Given the description of an element on the screen output the (x, y) to click on. 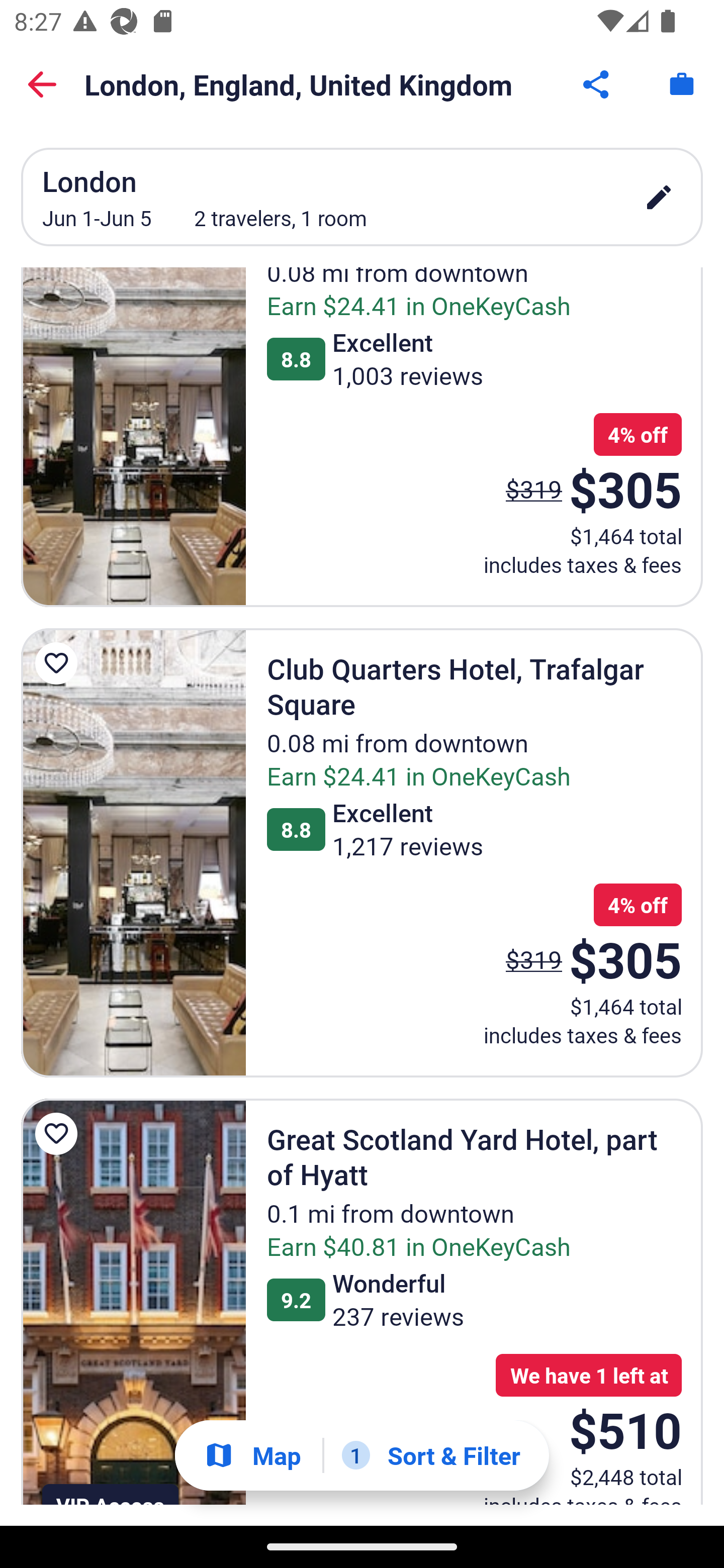
Back (42, 84)
Share Button (597, 84)
Trips. Button (681, 84)
London Jun 1-Jun 5 2 travelers, 1 room edit (361, 196)
The Grand at Trafalgar Square (133, 437)
$319 The price was $319 (533, 488)
Club Quarters Hotel, Trafalgar Square (133, 852)
$319 The price was $319 (533, 959)
Great Scotland Yard Hotel, part of Hyatt (133, 1302)
1 Sort & Filter 1 Filter applied. Filters Button (430, 1455)
Show map Map Show map Button (252, 1455)
